Given the description of an element on the screen output the (x, y) to click on. 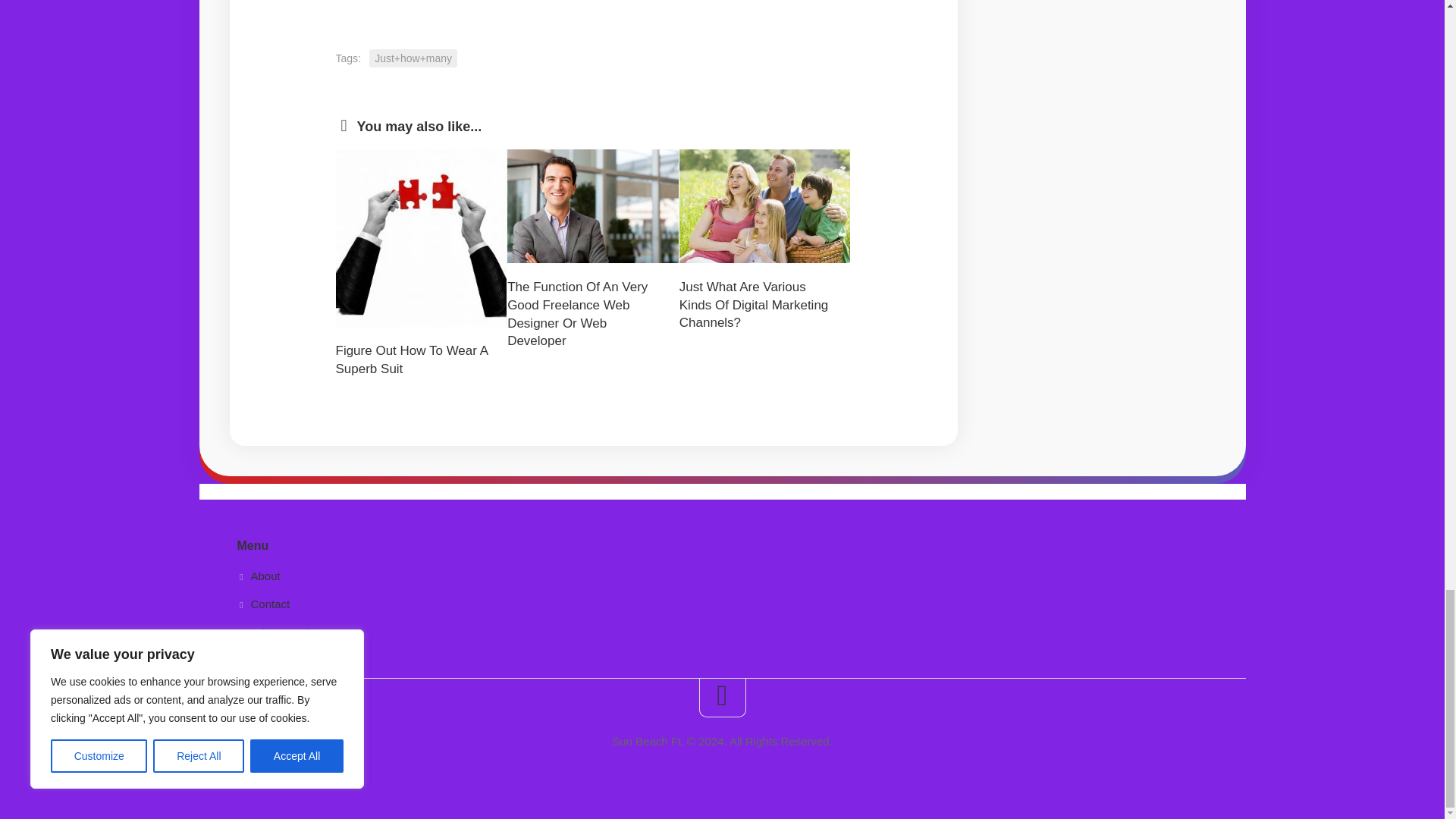
Just What Are Various Kinds Of Digital Marketing Channels? (753, 305)
Figure Out How To Wear A Superb Suit (410, 359)
